Given the description of an element on the screen output the (x, y) to click on. 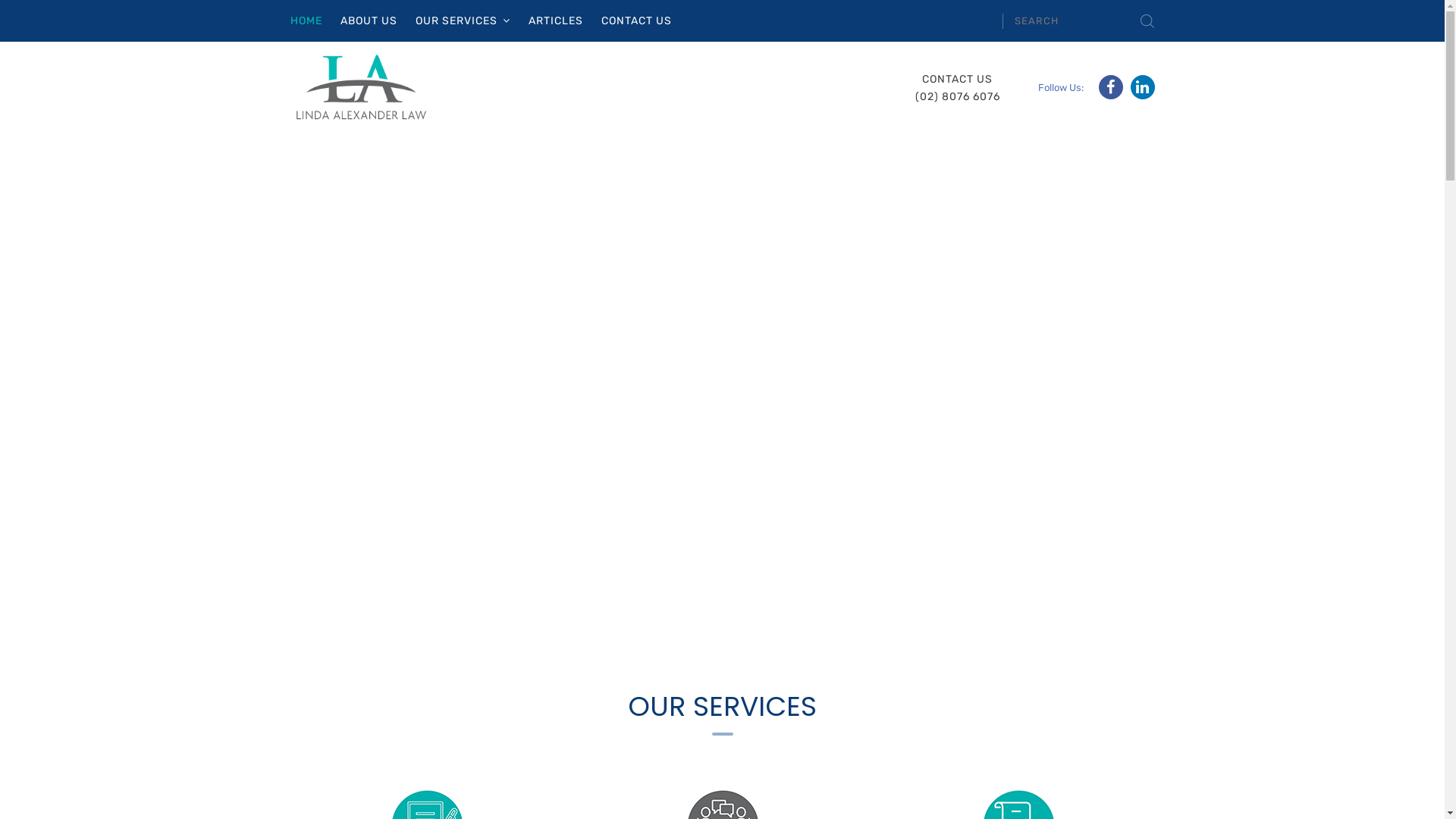
CONTACT US Element type: text (635, 20)
ARTICLES Element type: text (554, 20)
Blue-Separator-Line-Image Element type: hover (721, 733)
(02) 8076 6076 Element type: text (956, 96)
OUR SERVICES Element type: text (462, 20)
HOME Element type: text (305, 20)
ABOUT US Element type: text (367, 20)
